Given the description of an element on the screen output the (x, y) to click on. 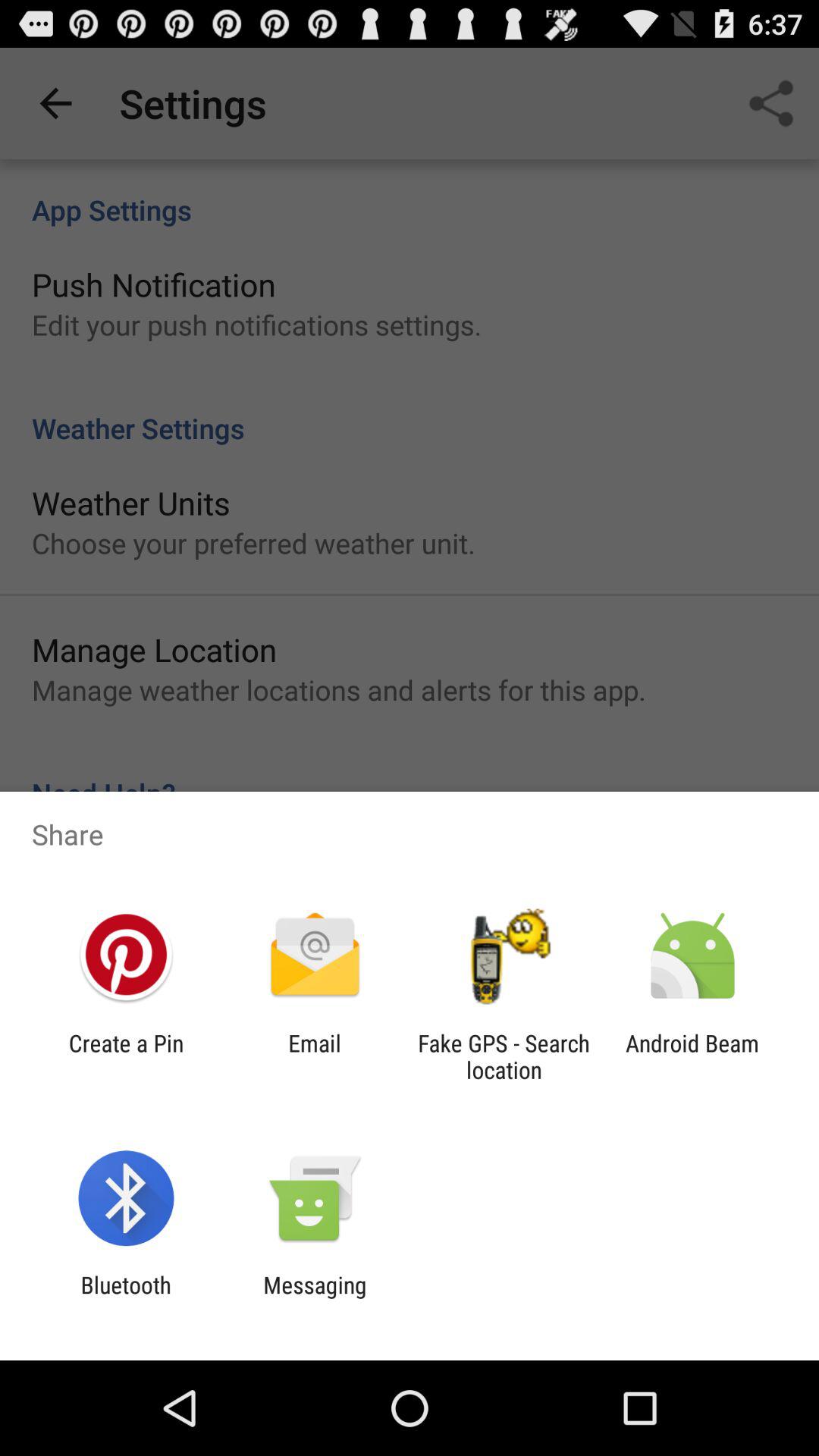
tap the create a pin app (125, 1056)
